Given the description of an element on the screen output the (x, y) to click on. 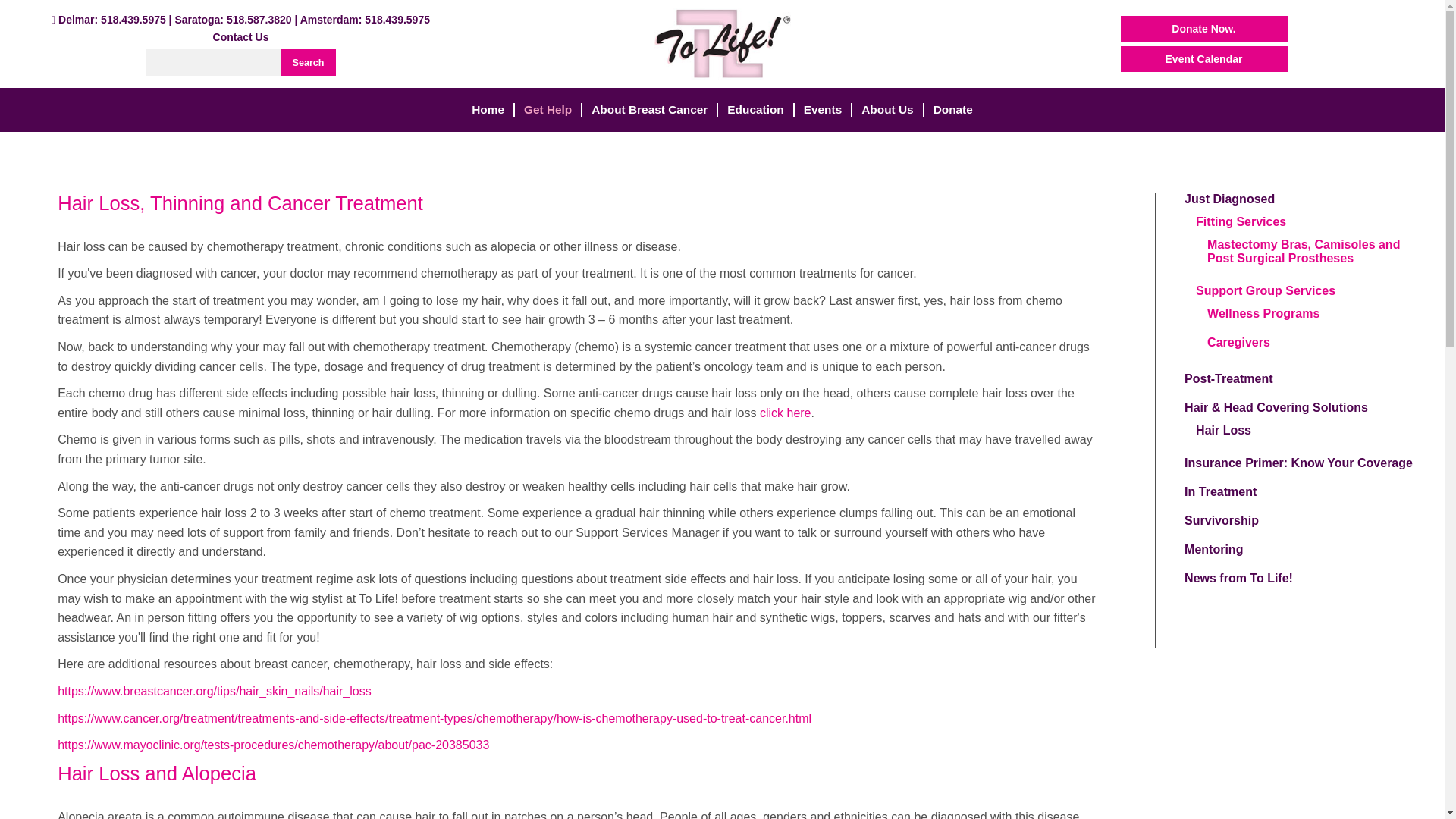
Event Calendar (1204, 58)
Contact Us (240, 37)
Get Help (548, 110)
518.587.3820 (259, 19)
Home (487, 110)
Search (307, 62)
Search (307, 62)
518.439.5975 (132, 19)
Donate Now. (1204, 28)
About Breast Cancer (649, 110)
